Given the description of an element on the screen output the (x, y) to click on. 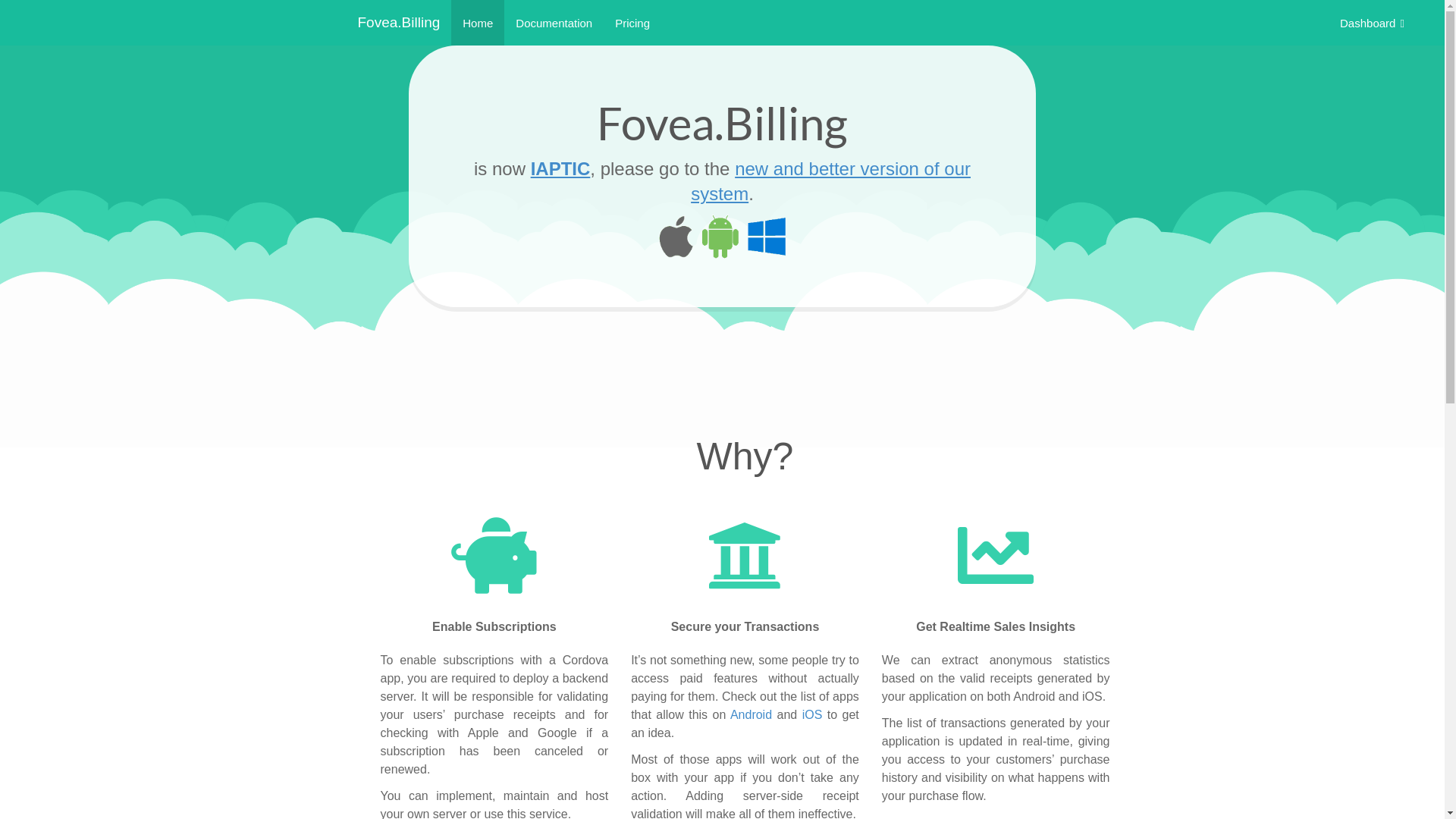
IAPTIC Element type: text (560, 167)
Home Element type: text (477, 22)
Pricing Element type: text (632, 22)
Why? Element type: text (744, 456)
Fovea.Billing Element type: text (398, 22)
new and better version of our system Element type: text (830, 180)
Dashboard Element type: text (1371, 22)
iOS Element type: text (812, 714)
Android Element type: text (750, 714)
Documentation Element type: text (553, 22)
